Given the description of an element on the screen output the (x, y) to click on. 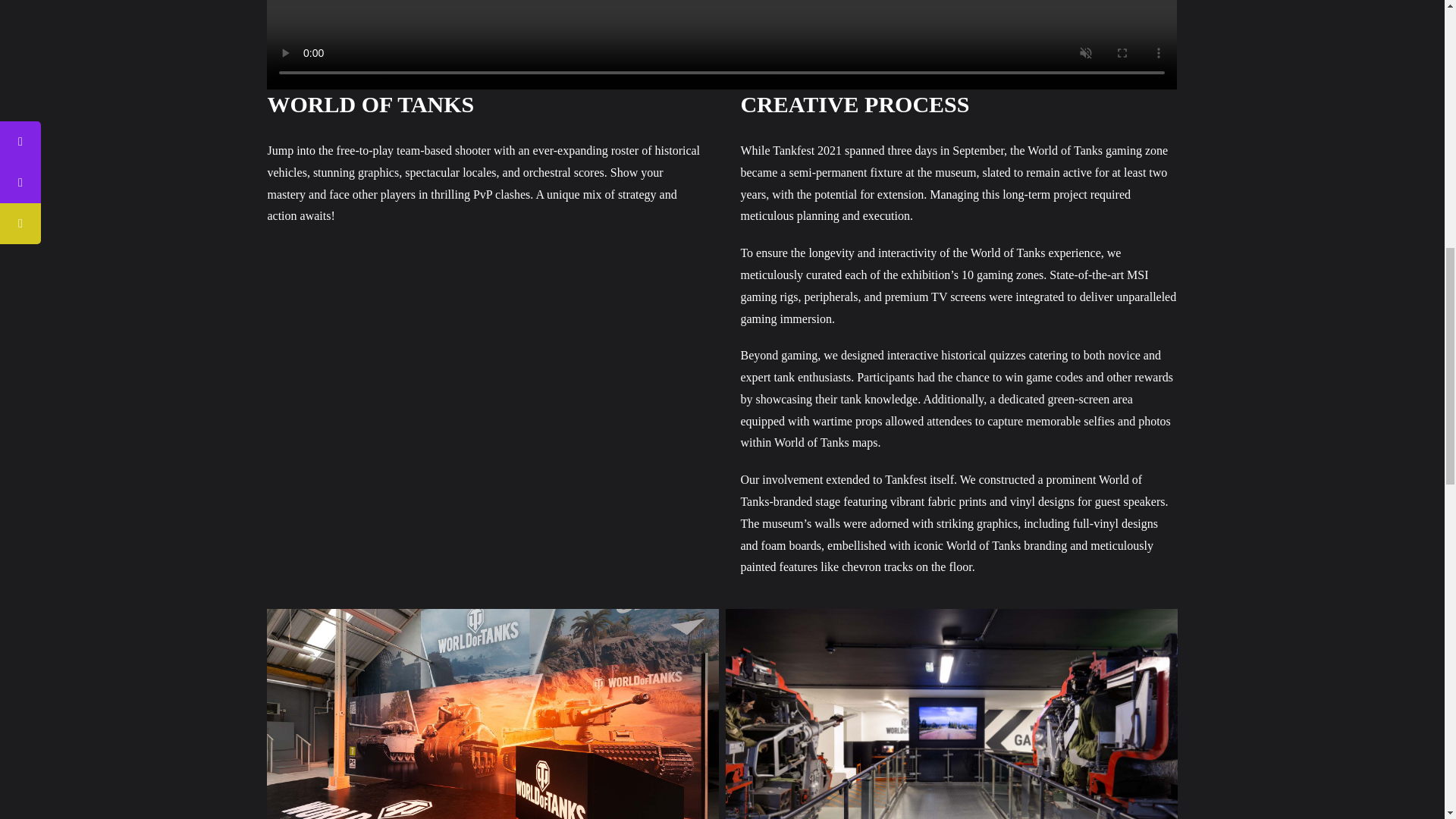
5 (950, 714)
1 (491, 714)
